Given the description of an element on the screen output the (x, y) to click on. 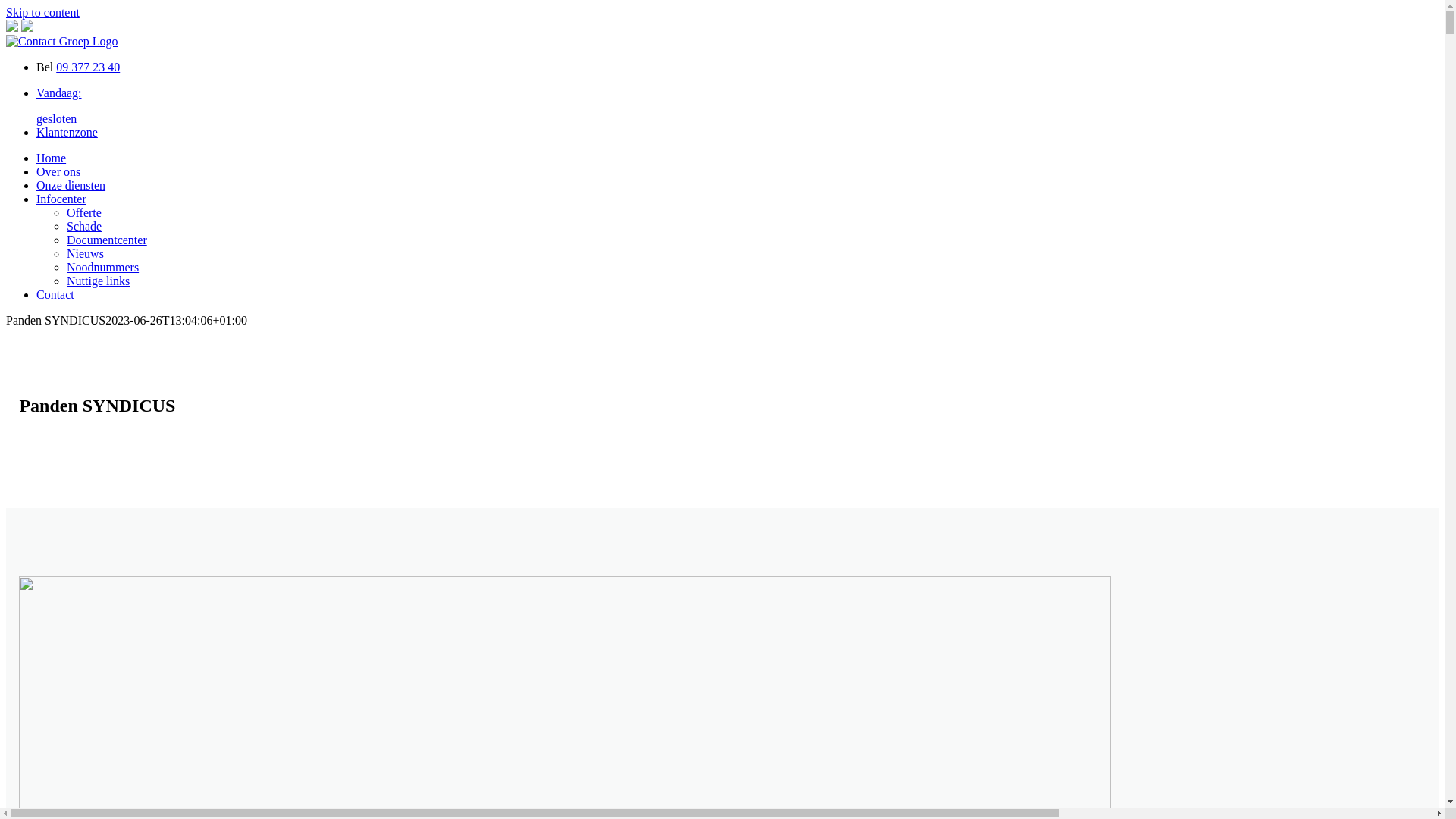
Infocenter Element type: text (61, 198)
Nuttige links Element type: text (97, 280)
Vandaag:
gesloten Element type: text (737, 105)
Documentcenter Element type: text (106, 239)
09 377 23 40 Element type: text (87, 66)
Over ons Element type: text (58, 171)
Nieuws Element type: text (84, 253)
Home Element type: text (50, 157)
Onze diensten Element type: text (70, 184)
Contact Element type: text (55, 294)
Noodnummers Element type: text (102, 266)
Skip to content Element type: text (42, 12)
Offerte Element type: text (83, 212)
Schade Element type: text (83, 225)
Klantenzone Element type: text (66, 131)
